Given the description of an element on the screen output the (x, y) to click on. 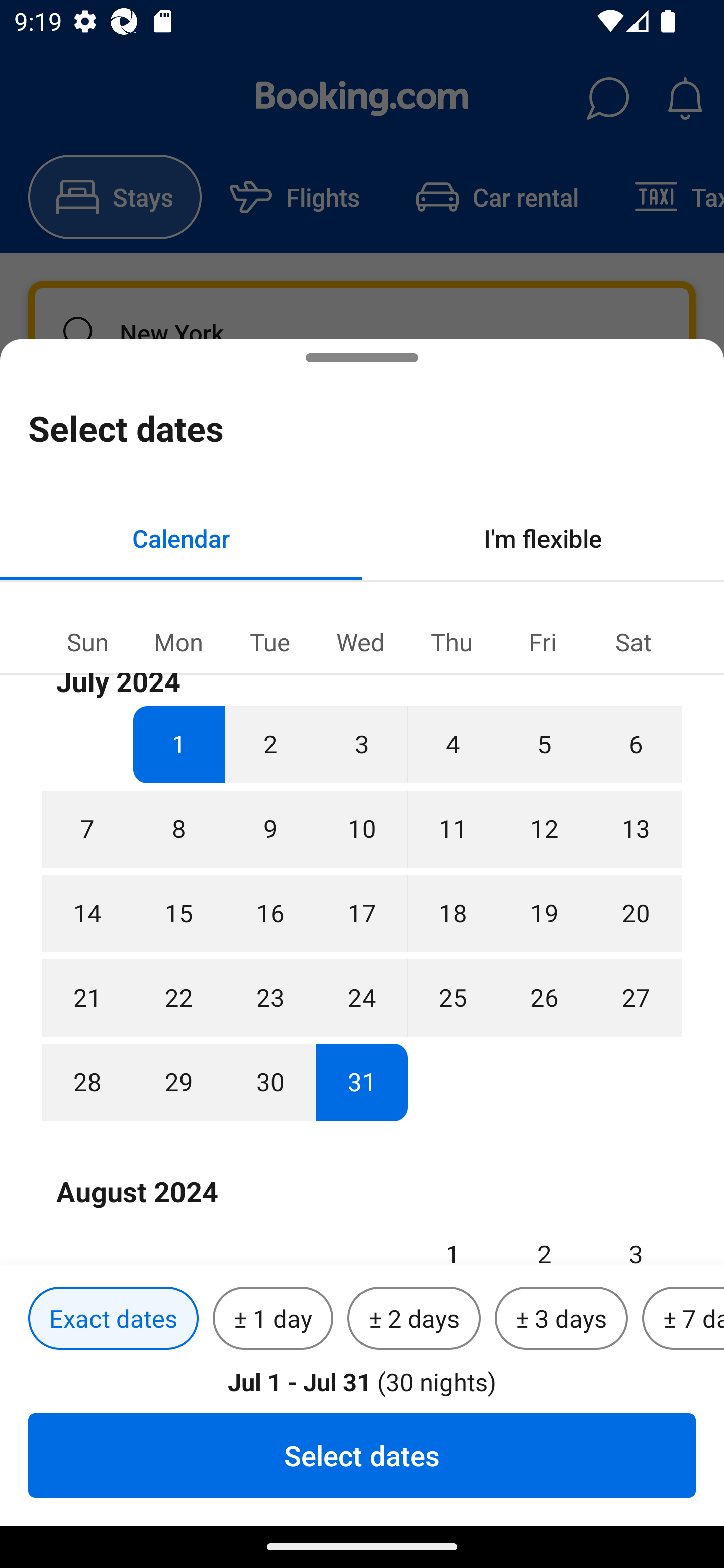
I'm flexible (543, 537)
Exact dates (113, 1318)
± 1 day (272, 1318)
± 2 days (413, 1318)
± 3 days (560, 1318)
± 7 days (683, 1318)
Select dates (361, 1454)
